Given the description of an element on the screen output the (x, y) to click on. 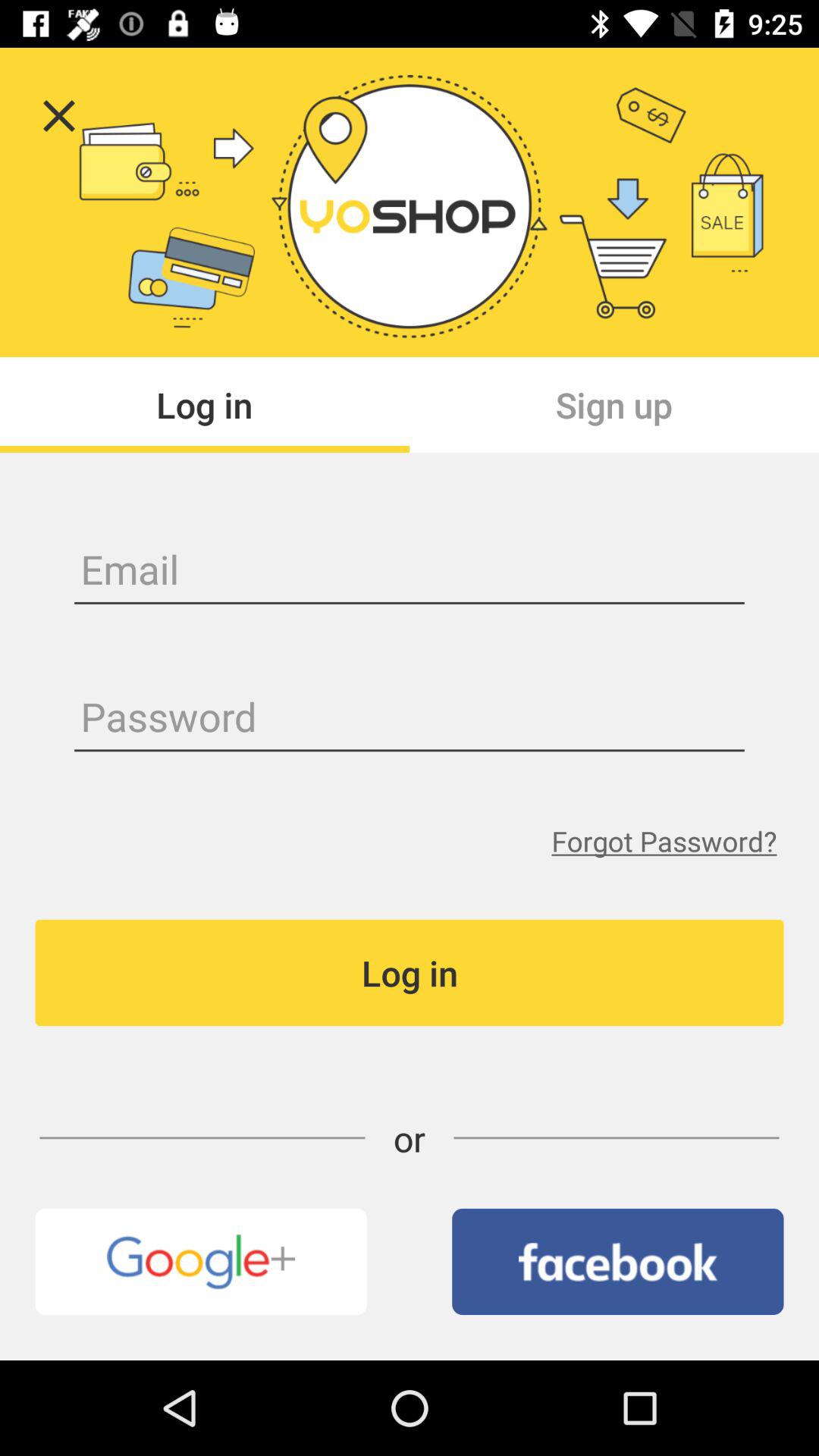
password field (409, 719)
